Given the description of an element on the screen output the (x, y) to click on. 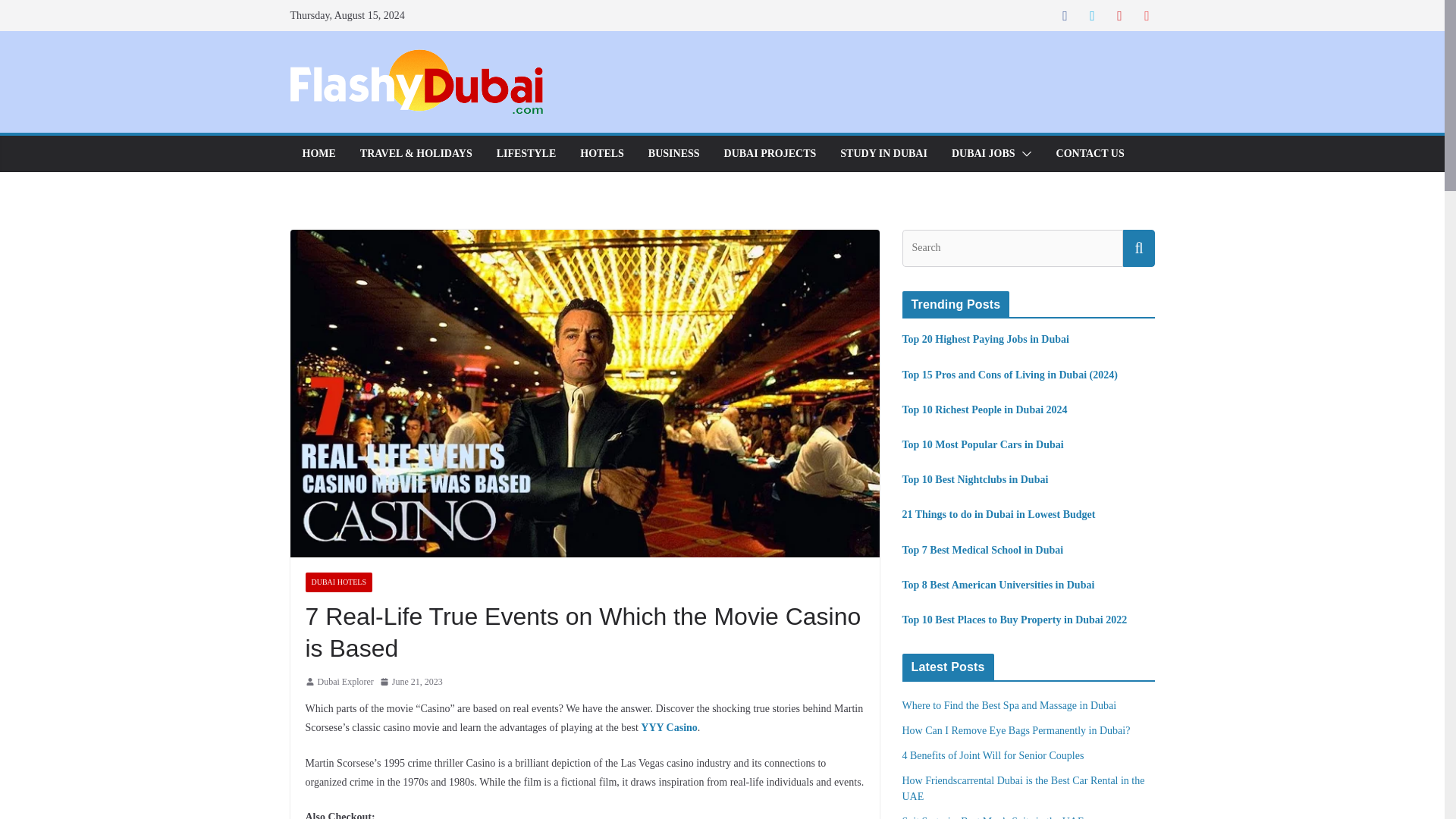
Dubai Explorer (344, 682)
CONTACT US (1090, 153)
Dubai Explorer (344, 682)
DUBAI HOTELS (338, 582)
June 21, 2023 (411, 682)
BUSINESS (673, 153)
YYY Casino (668, 727)
DUBAI JOBS (983, 153)
HOTELS (601, 153)
STUDY IN DUBAI (883, 153)
